Given the description of an element on the screen output the (x, y) to click on. 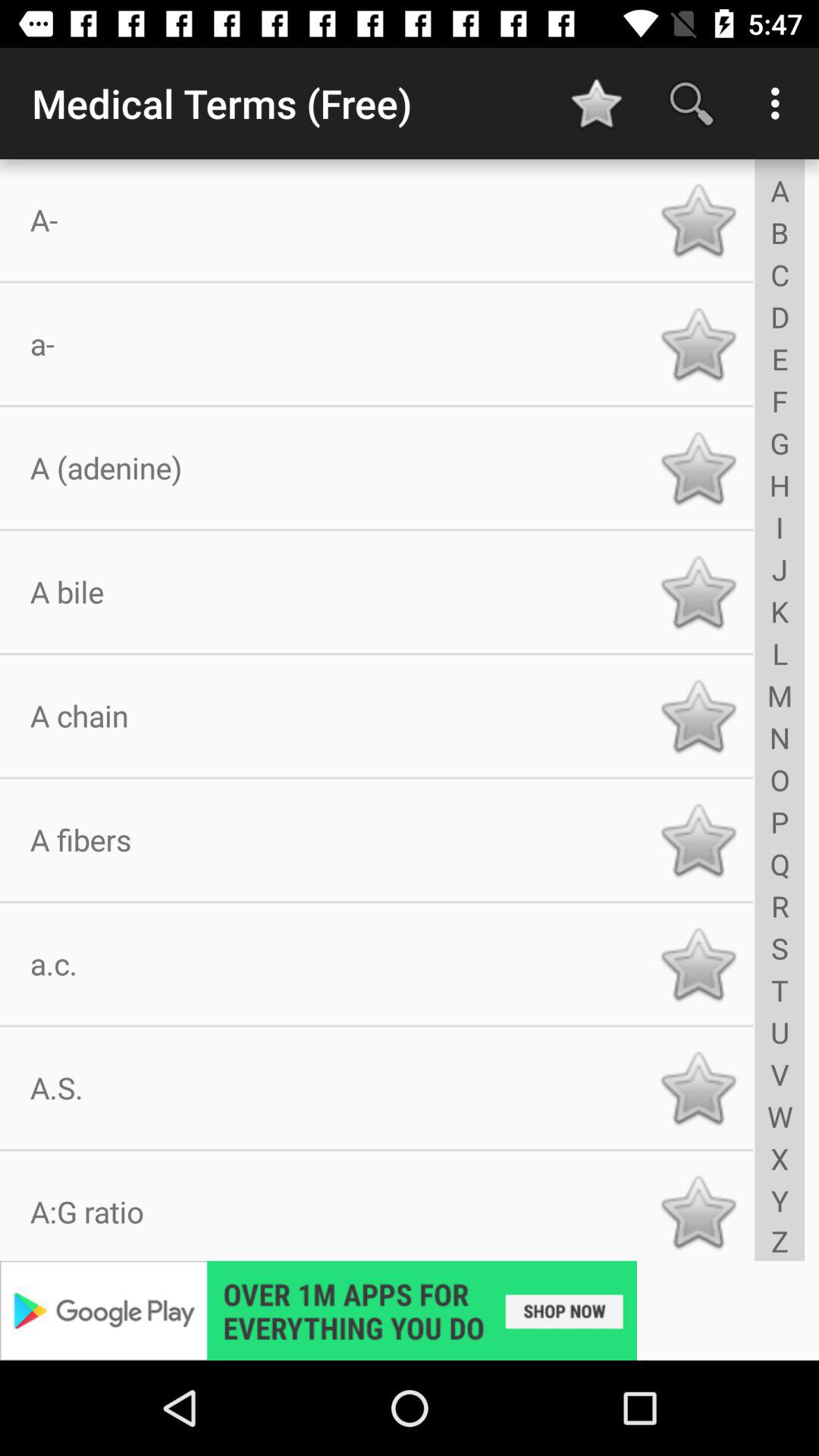
star select botton (697, 1211)
